Given the description of an element on the screen output the (x, y) to click on. 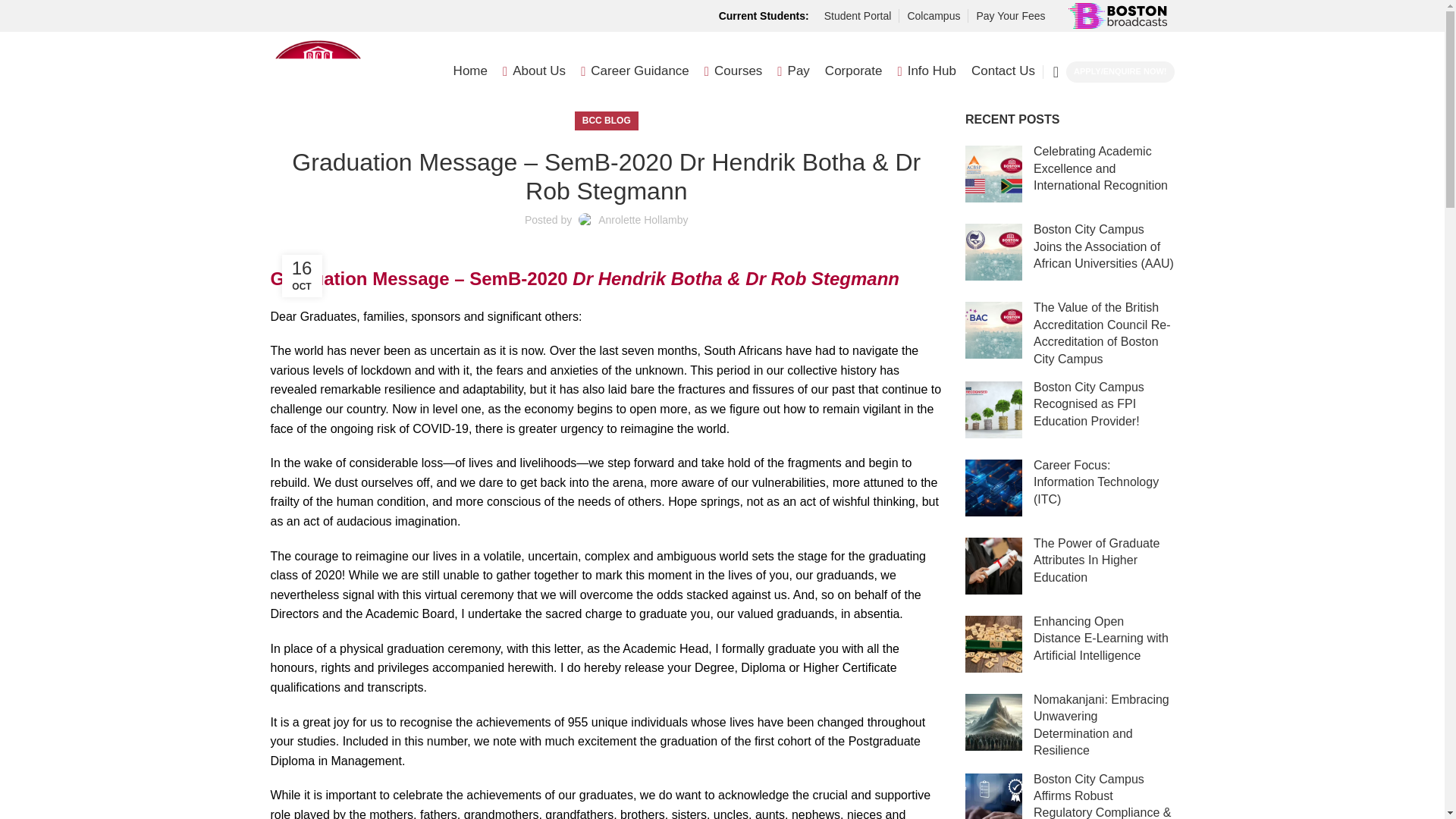
Courses (733, 71)
Career Guidance (634, 71)
Colcampus (933, 15)
Student Portal (857, 15)
Home (469, 71)
About Us (534, 71)
Boston Broadcasts (1116, 15)
Pay Your Fees (1010, 15)
